Given the description of an element on the screen output the (x, y) to click on. 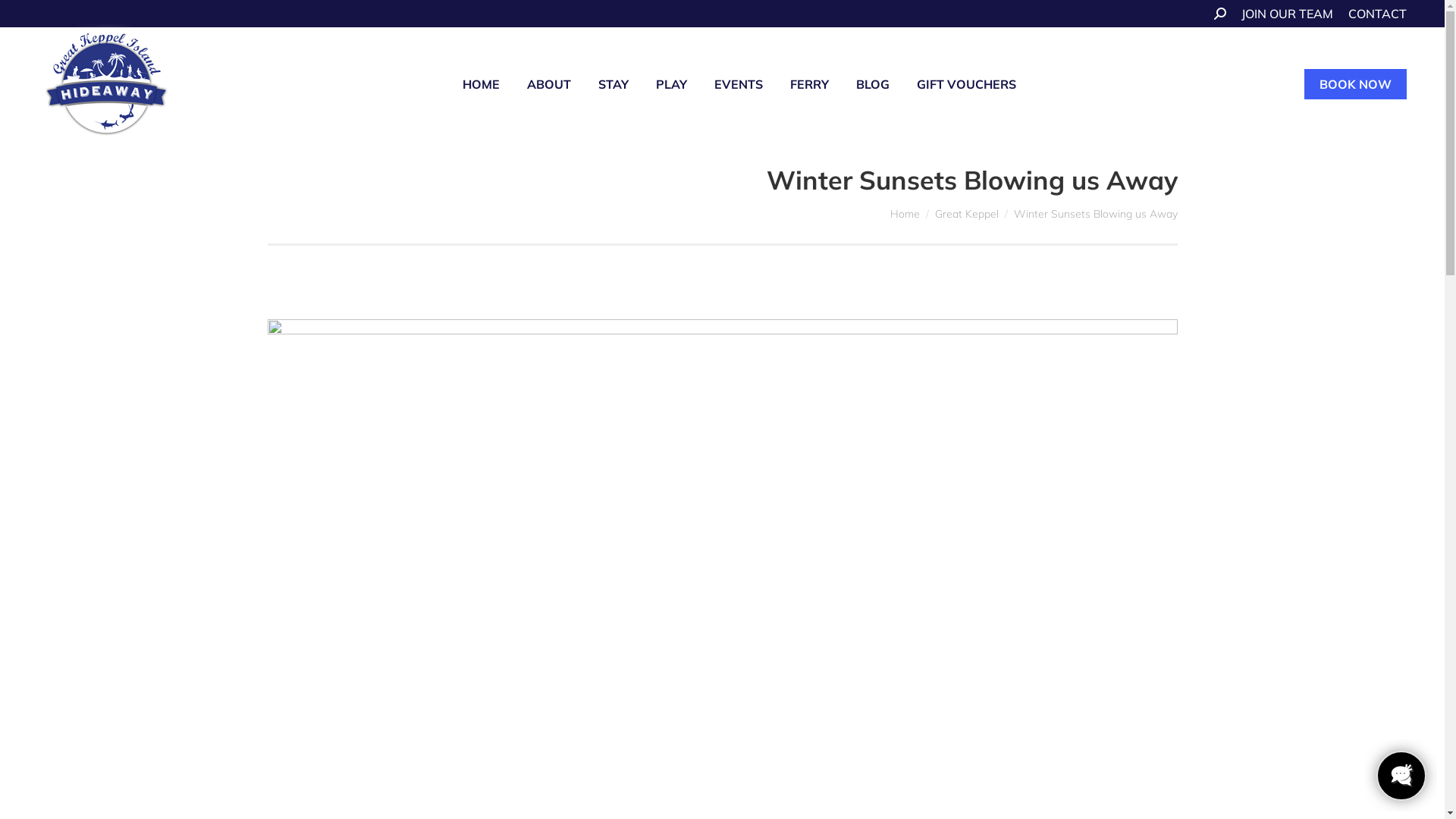
GIFT VOUCHERS Element type: text (966, 83)
Great Keppel Element type: text (965, 213)
EVENTS Element type: text (738, 83)
JOIN OUR TEAM Element type: text (1287, 13)
BOOK NOW Element type: text (1355, 84)
FERRY Element type: text (809, 83)
STAY Element type: text (613, 83)
BLOG Element type: text (872, 83)
HOME Element type: text (480, 83)
CONTACT Element type: text (1377, 13)
Home Element type: text (904, 213)
Go! Element type: text (23, 16)
ABOUT Element type: text (549, 83)
PLAY Element type: text (671, 83)
